Given the description of an element on the screen output the (x, y) to click on. 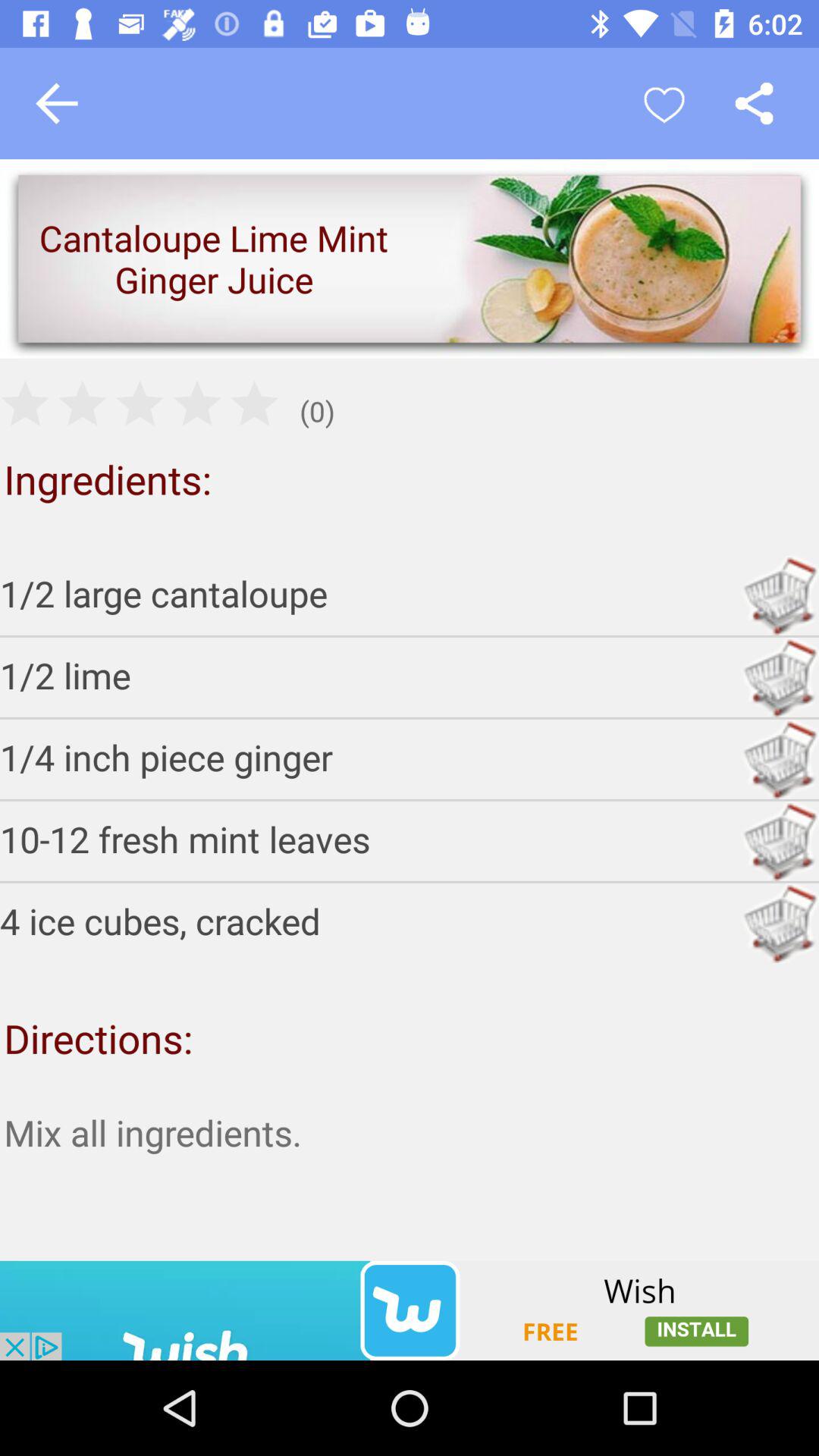
open share options (754, 103)
